Given the description of an element on the screen output the (x, y) to click on. 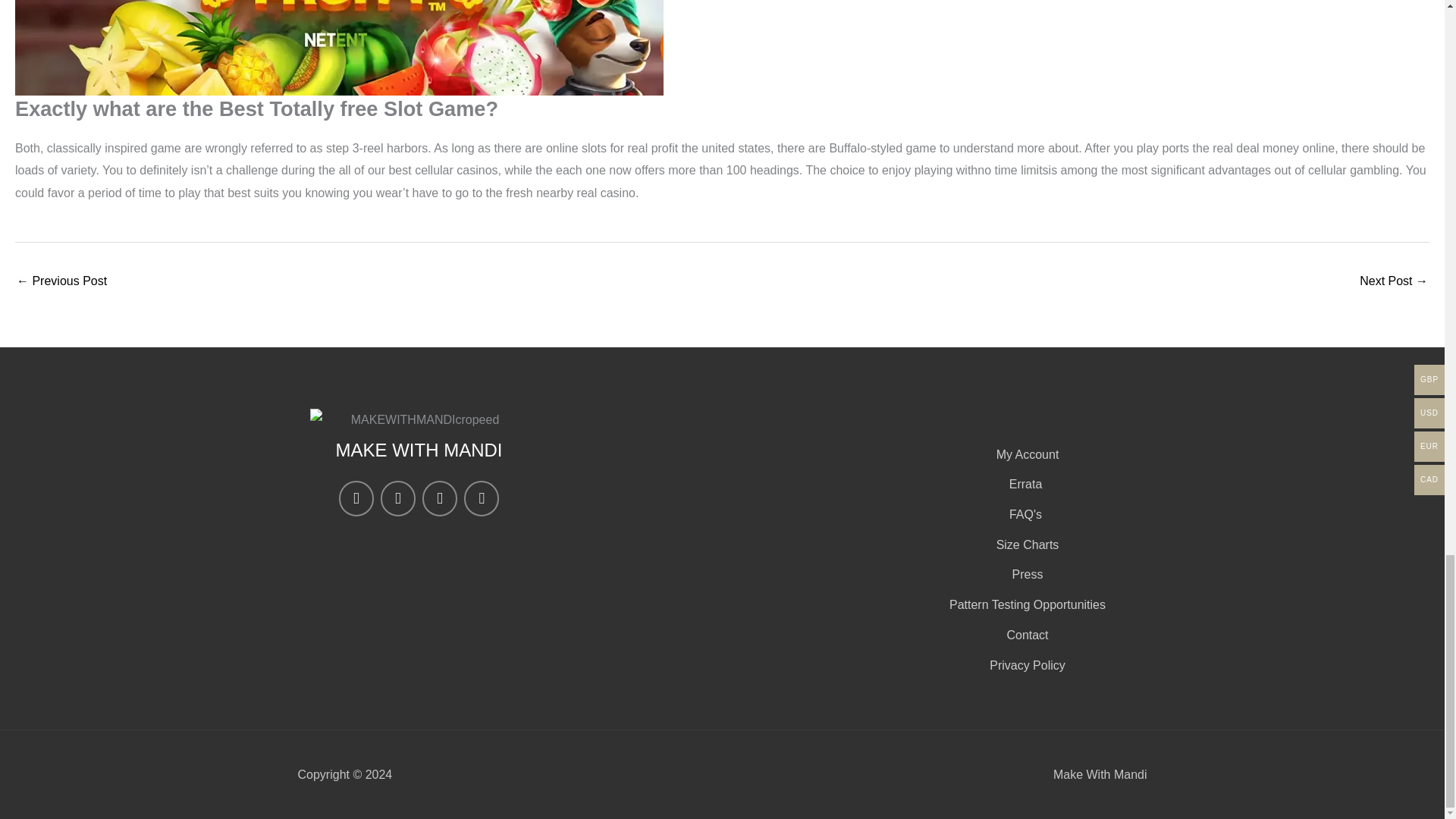
Privacy Policy (1024, 665)
My Account (1024, 454)
Instagram (356, 497)
Pinterest (439, 497)
Facebook-f (397, 497)
Youtube (481, 497)
Press (1024, 574)
Size Charts (1024, 544)
